Given the description of an element on the screen output the (x, y) to click on. 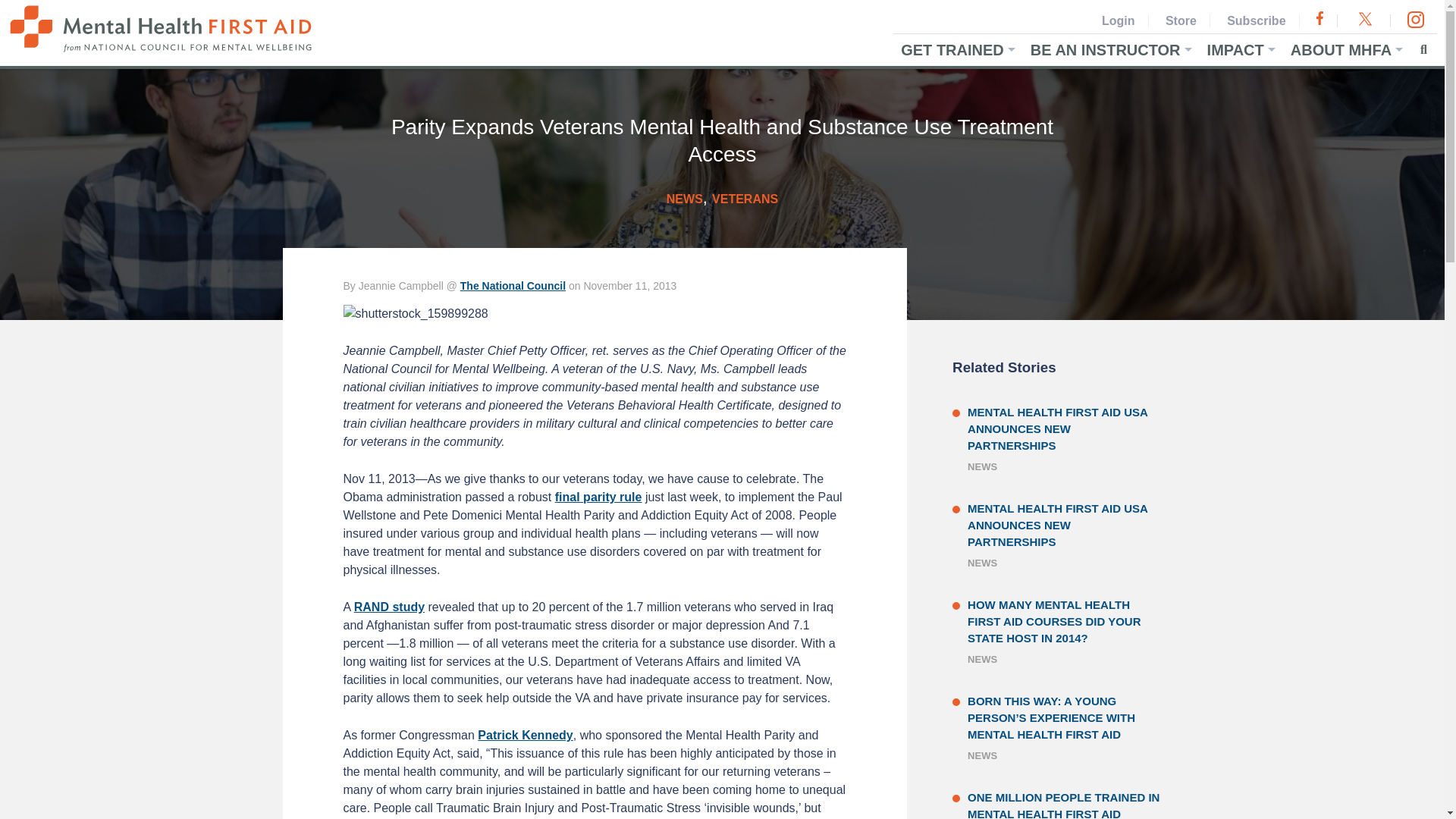
Login (1117, 20)
Subscribe (1257, 20)
Visit us on Instagram (1415, 20)
Return to homepage (164, 48)
Visit us on Facebook (1319, 20)
GET TRAINED (958, 50)
Visit us on Twitter (1365, 20)
Store (1180, 20)
